Given the description of an element on the screen output the (x, y) to click on. 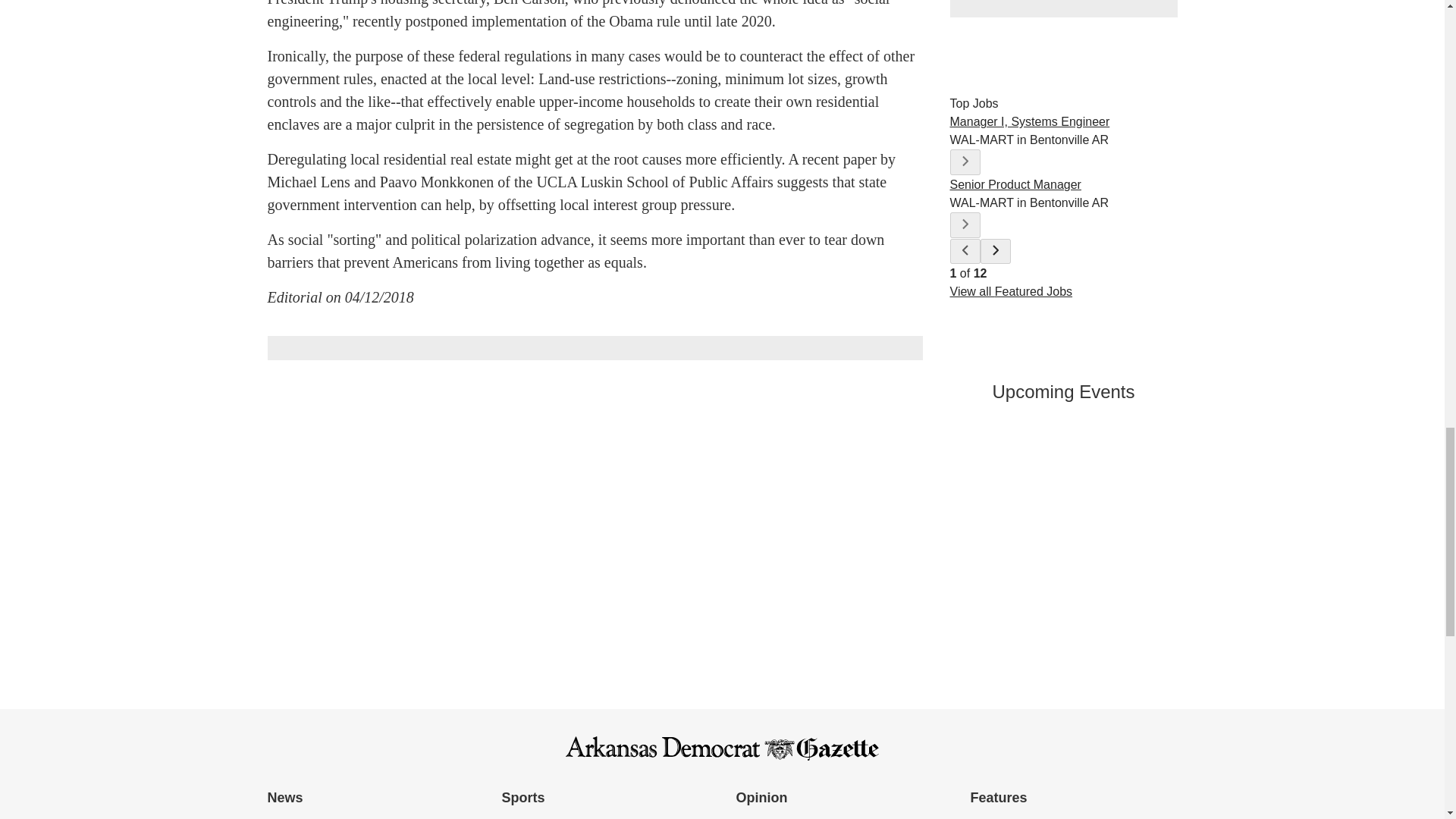
3rd party ad content (1062, 8)
